Given the description of an element on the screen output the (x, y) to click on. 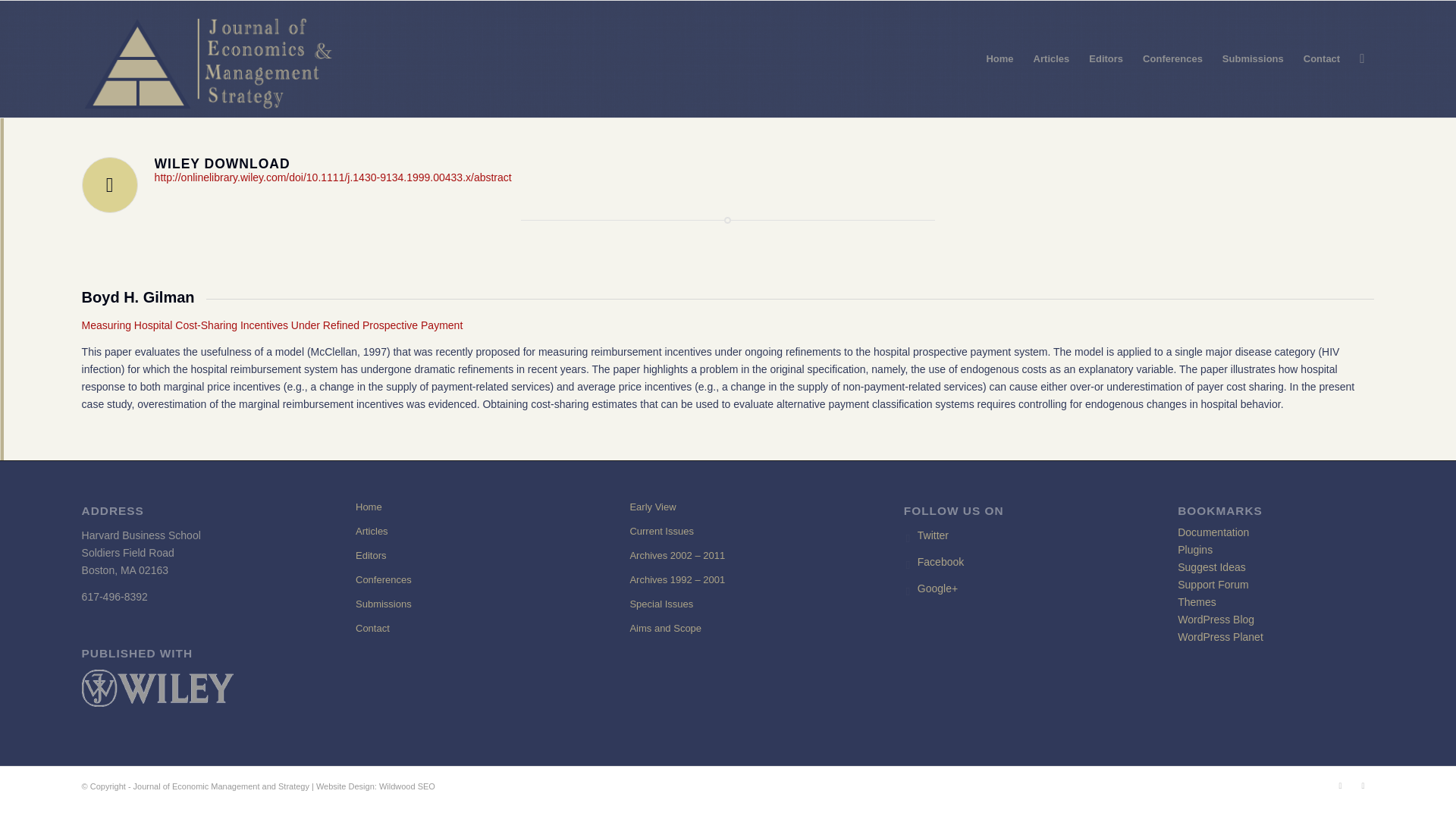
Support Forum (1212, 584)
Editors (453, 555)
Current Issues (726, 531)
Facebook (1362, 784)
Articles (453, 531)
Wildwood SEO (406, 786)
Submissions (453, 604)
Home (453, 507)
